Given the description of an element on the screen output the (x, y) to click on. 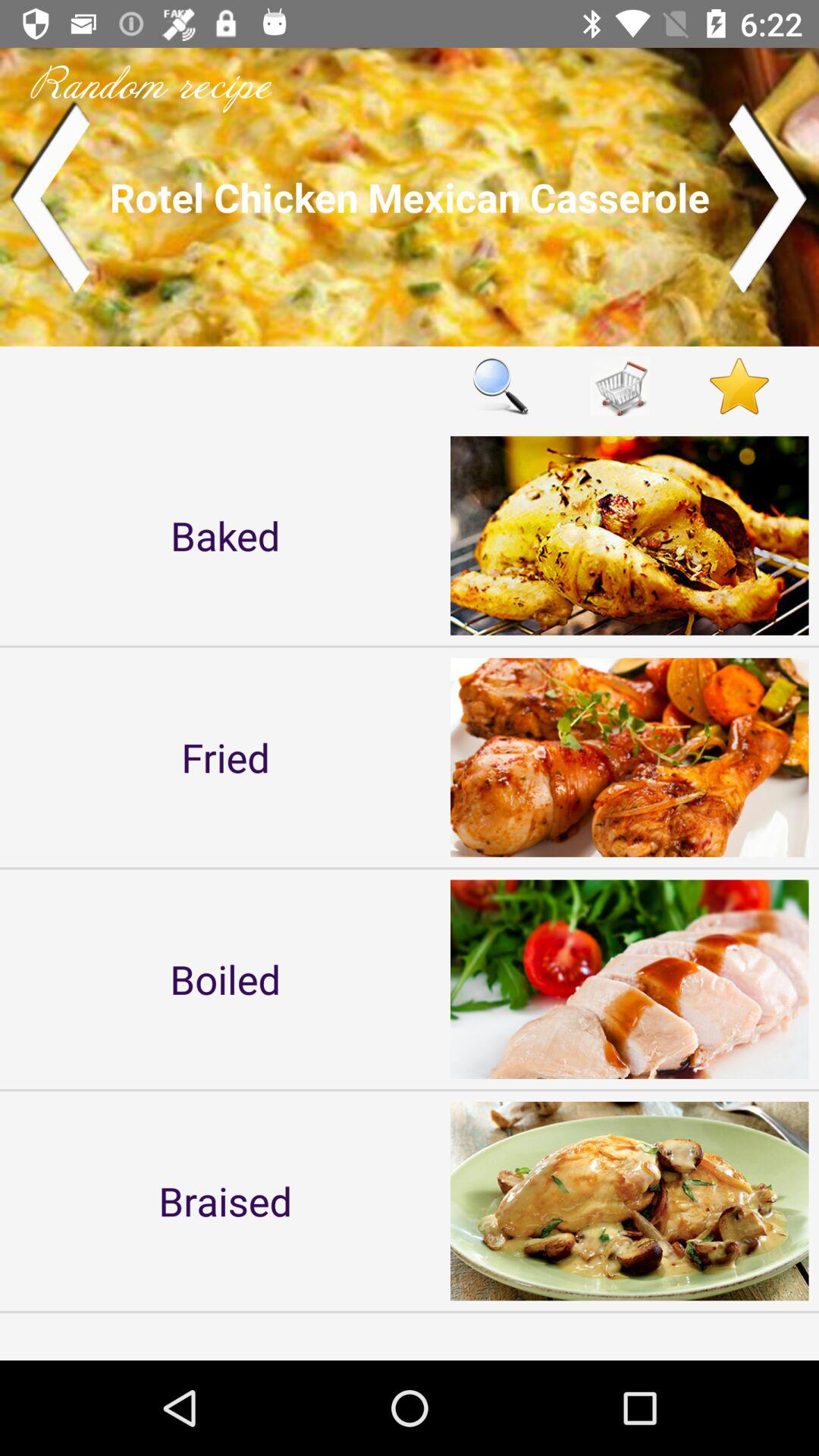
rate foods (739, 385)
